Given the description of an element on the screen output the (x, y) to click on. 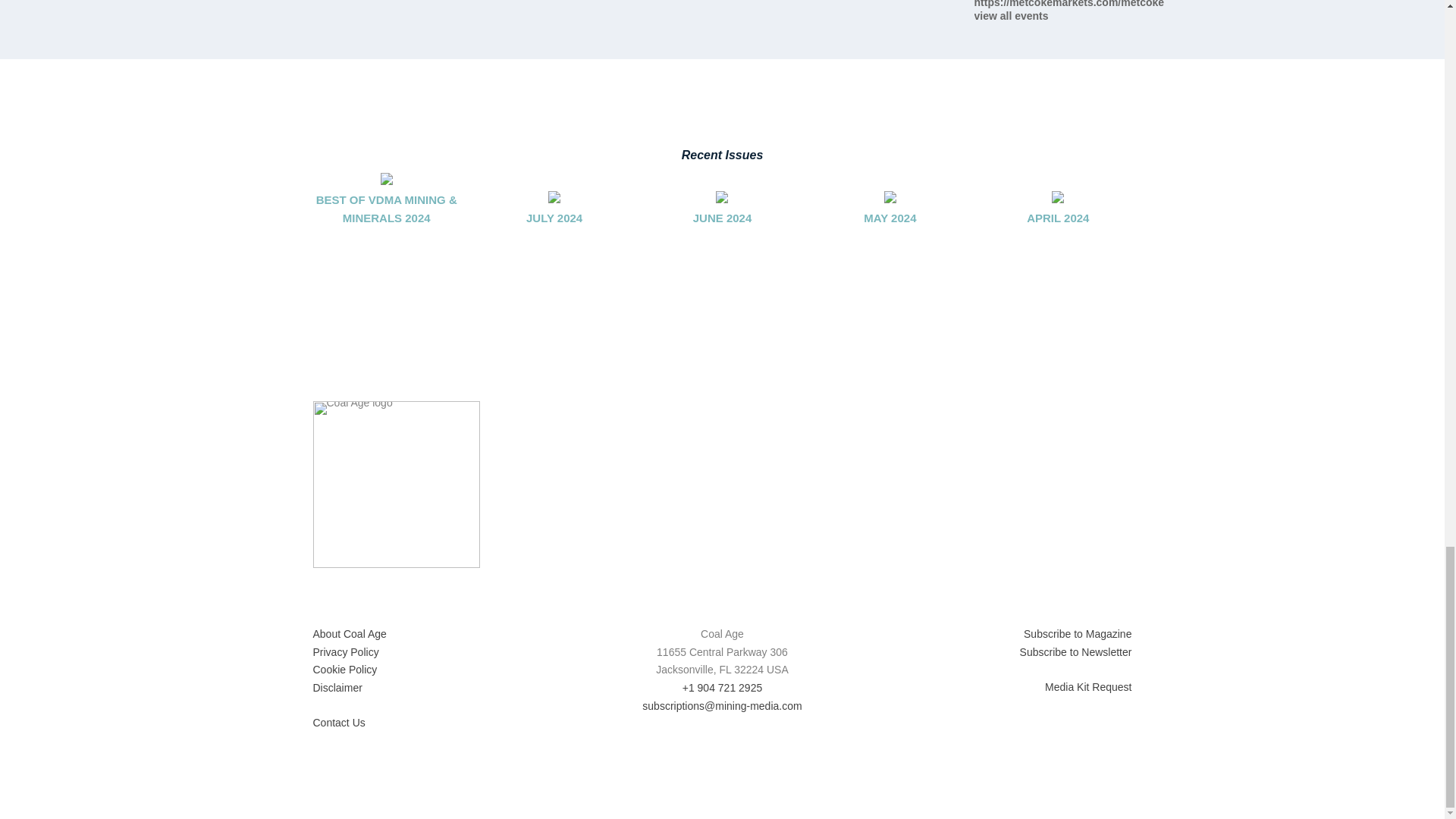
Coal Age logo (396, 484)
